Given the description of an element on the screen output the (x, y) to click on. 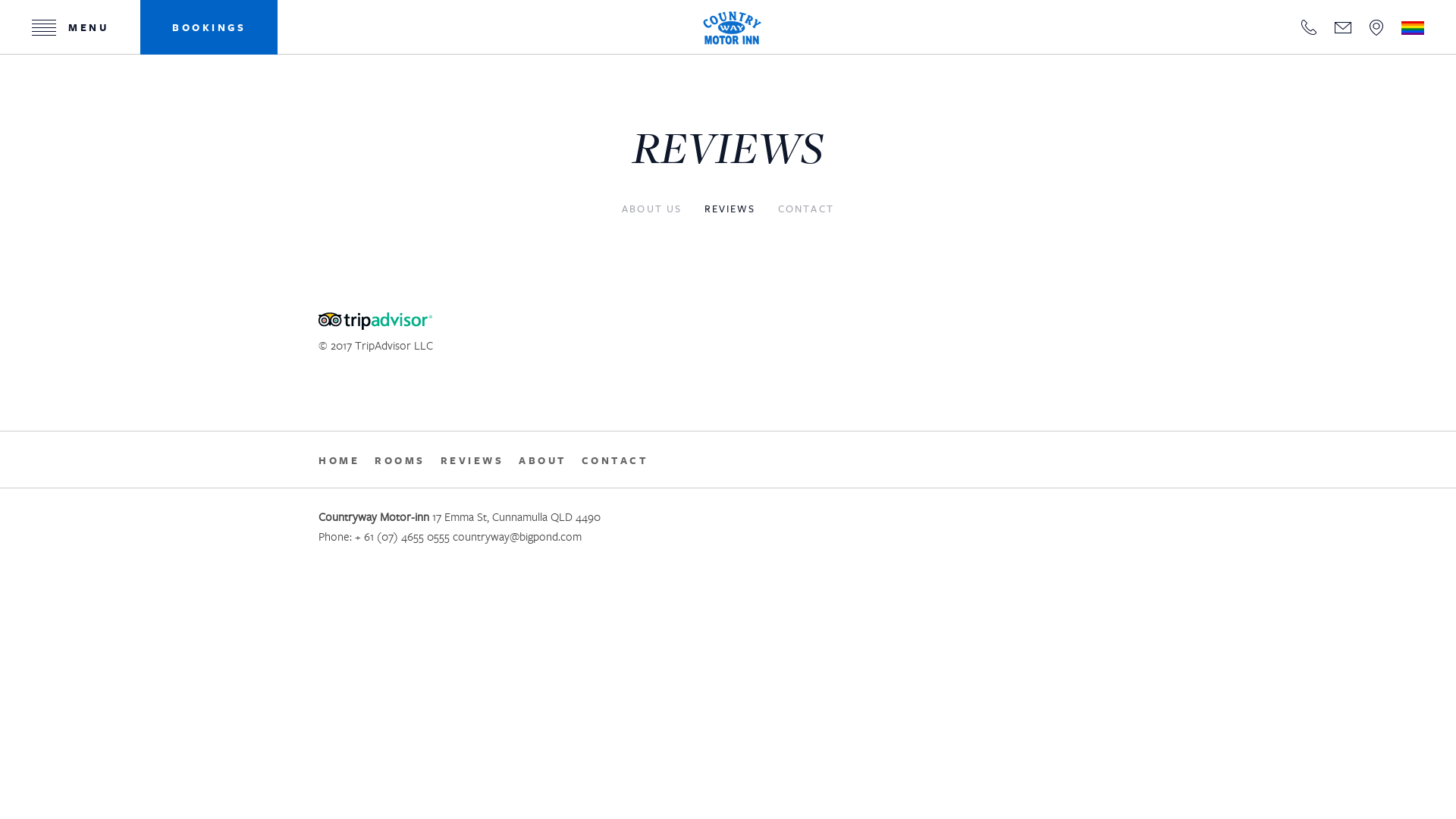
CONTACT Element type: text (806, 209)
FIND AND CONTACT US Element type: text (121, 136)
OUR ROOMS Element type: text (121, 45)
HOME Element type: text (121, 15)
LOCATION Element type: text (1376, 27)
HOME Element type: text (338, 460)
E-MAIL Element type: text (1342, 27)
CONTACT Element type: text (1308, 27)
ABOUT US Element type: text (651, 209)
CONTACT Element type: text (613, 460)
MENU Element type: text (70, 27)
ABOUT US Element type: text (121, 106)
Make a booking Element type: text (50, 185)
ABOUT Element type: text (542, 460)
+ 61 (07) 4655 0555 Element type: text (401, 535)
ROOMS Element type: text (399, 460)
REVIEWS Element type: text (471, 460)
BOOKINGS Element type: text (208, 27)
REVIEWS Element type: text (730, 209)
Countryway Motor Inn, Cunnamulla Element type: text (731, 27)
countryway@bigpond.com Element type: text (516, 535)
REVIEWS Element type: text (121, 75)
